Given the description of an element on the screen output the (x, y) to click on. 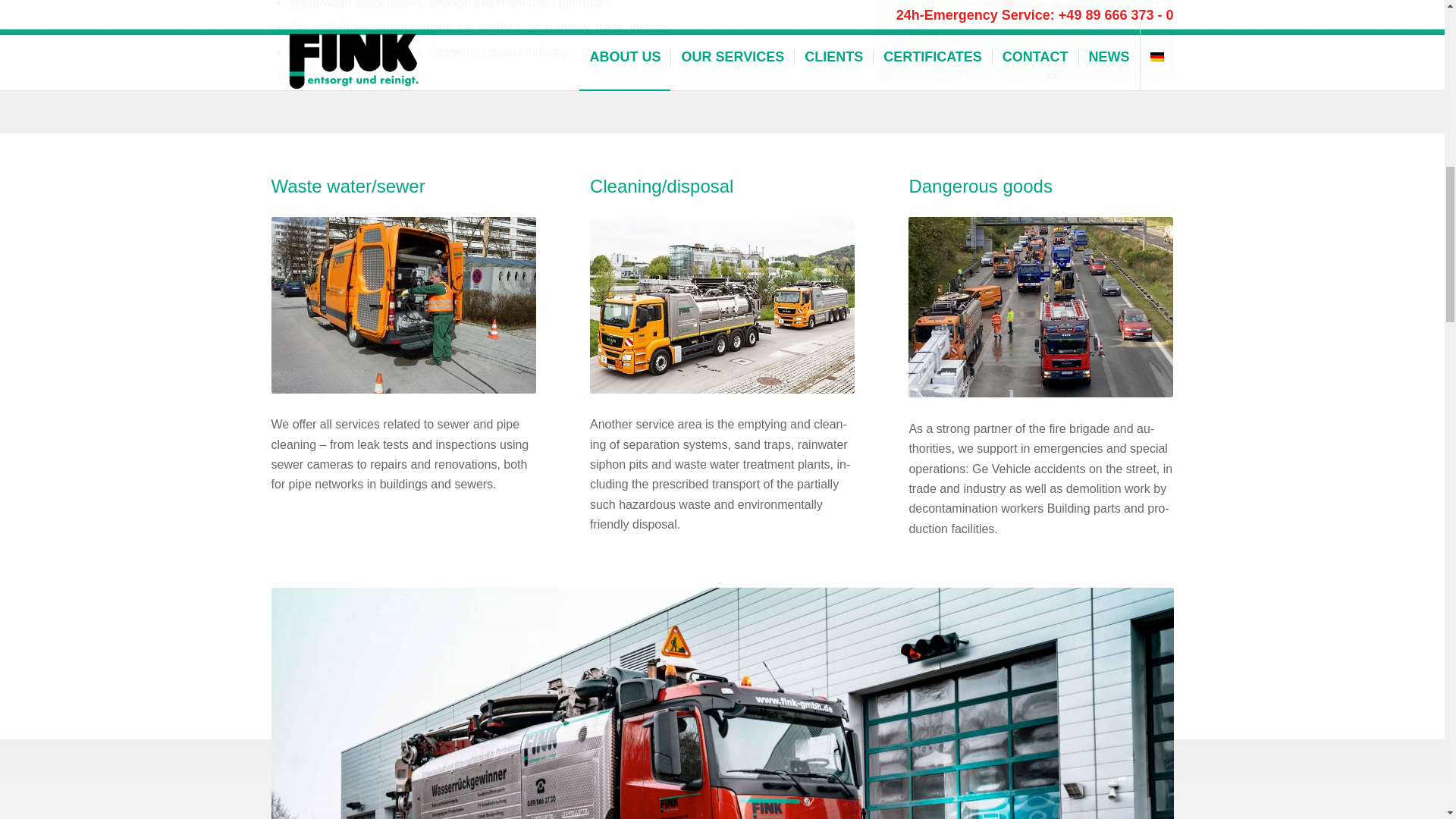
Kanaluntersuchung der Fa. Fink Taufkirchen (402, 305)
Saugwagen der Fa. Fink im Einsatz (721, 305)
